Given the description of an element on the screen output the (x, y) to click on. 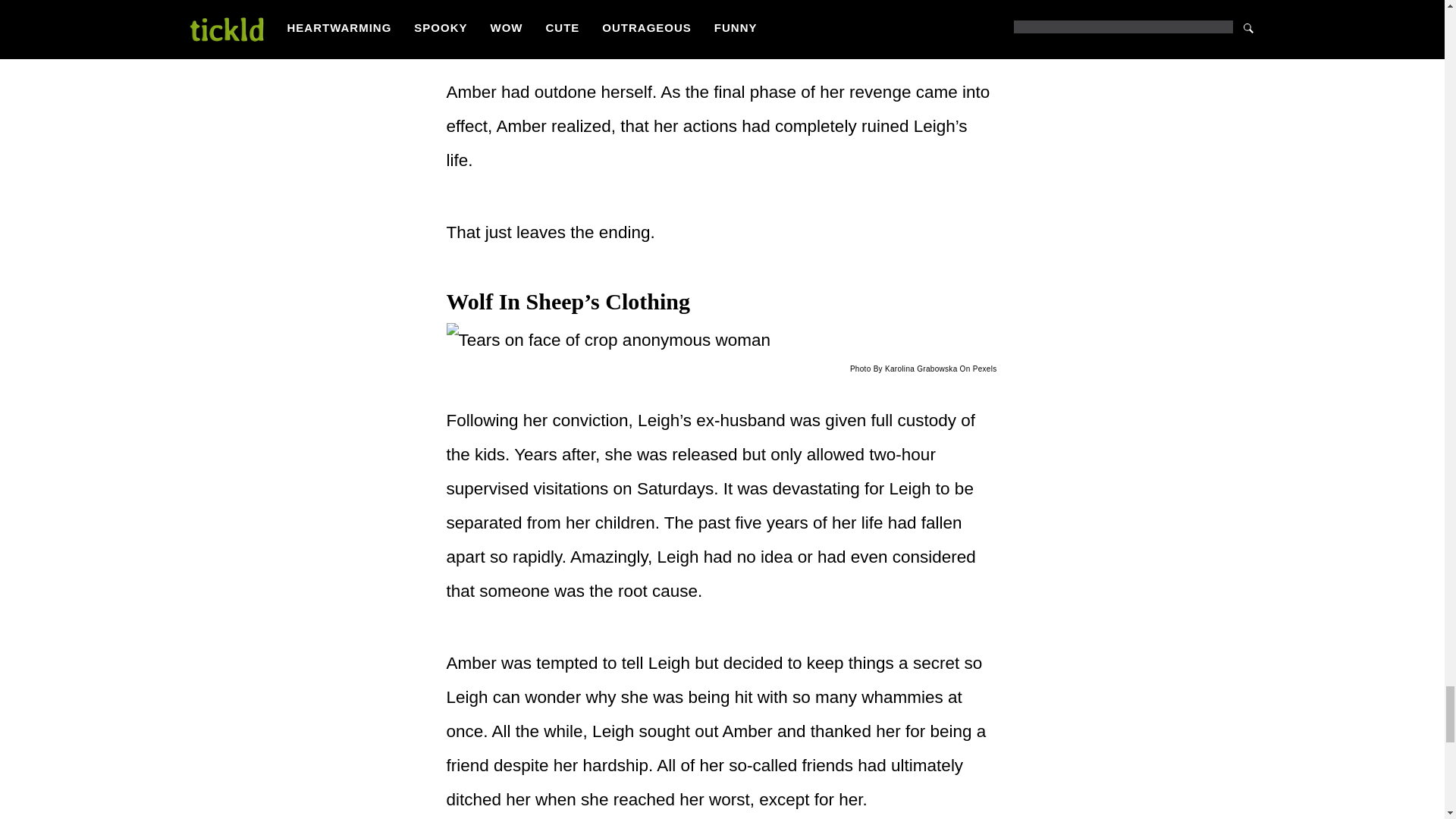
Pexels (984, 368)
